Given the description of an element on the screen output the (x, y) to click on. 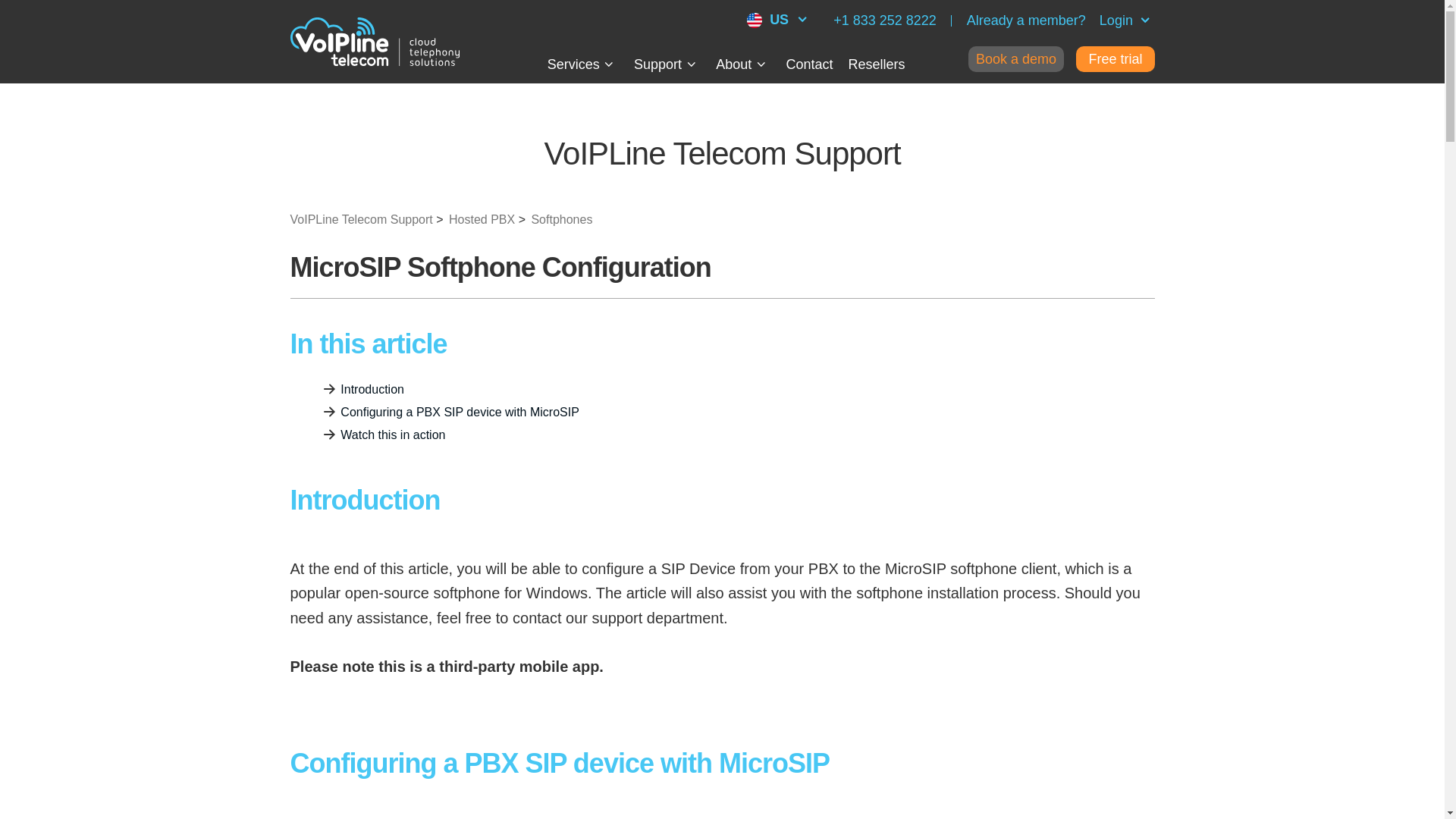
VoIPLine Telecom Support (360, 219)
Contact (809, 64)
US (778, 20)
Services (582, 64)
Support (666, 64)
Book a demo (1016, 58)
Hosted PBX (475, 219)
Resellers (875, 64)
About (743, 64)
Free trial (1114, 58)
